Given the description of an element on the screen output the (x, y) to click on. 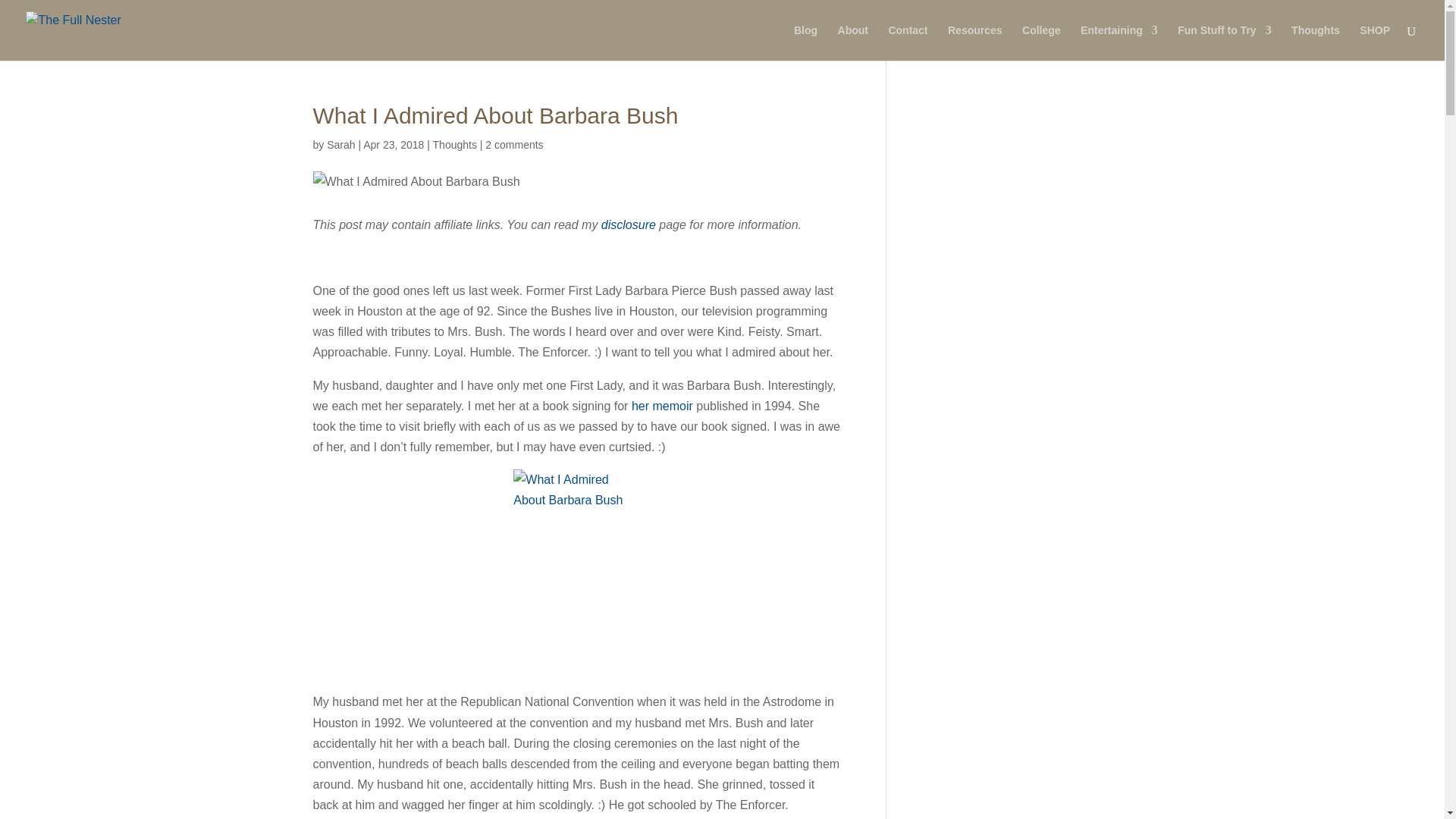
Sarah (340, 144)
disclosure (628, 224)
2 comments (513, 144)
Entertaining (1118, 42)
Thoughts (1315, 42)
Resources (975, 42)
College (1041, 42)
Fun Stuff to Try (1224, 42)
her memoir (662, 405)
Contact (907, 42)
